Given the description of an element on the screen output the (x, y) to click on. 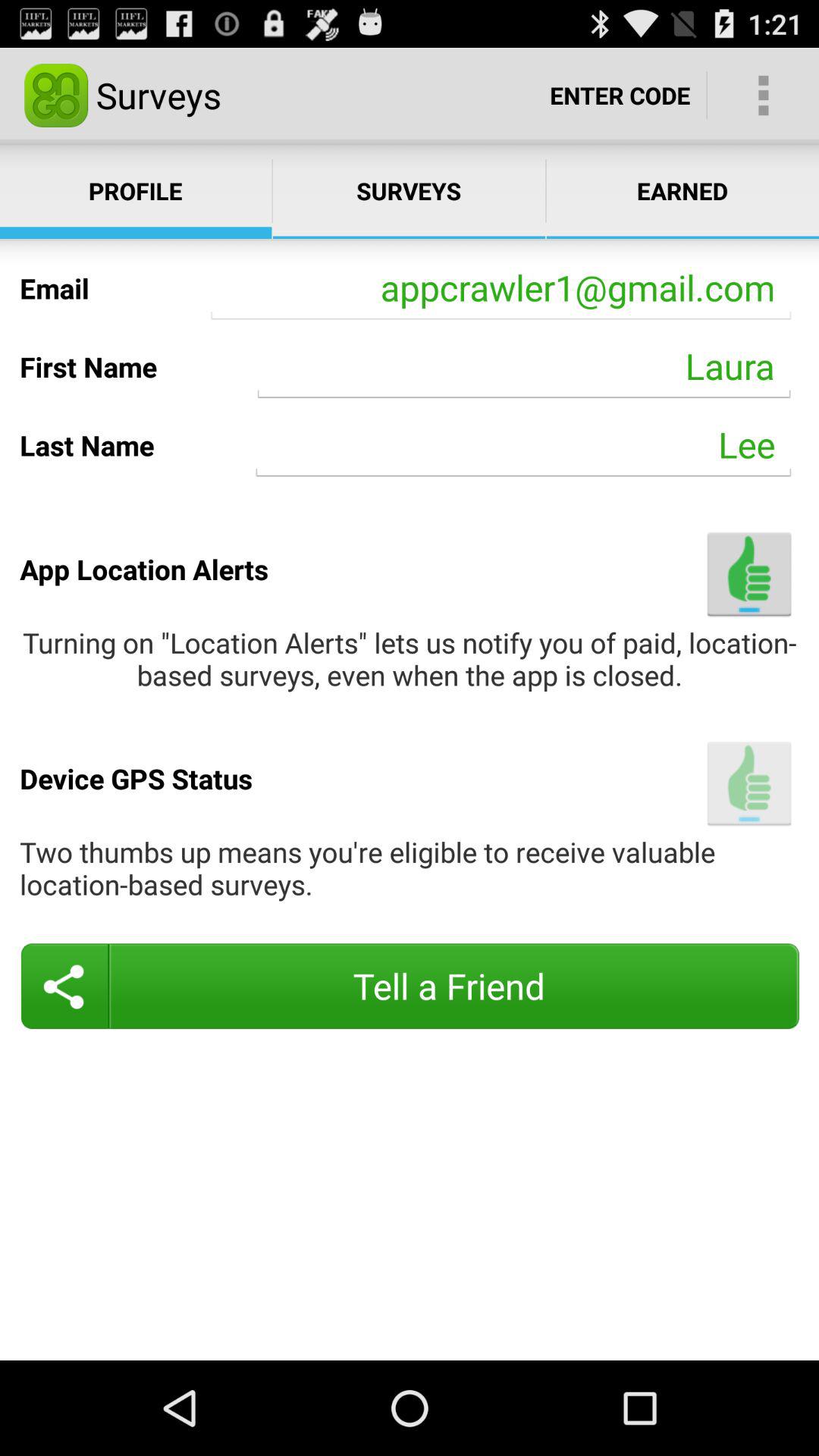
choose the item above the turning on location item (749, 573)
